Given the description of an element on the screen output the (x, y) to click on. 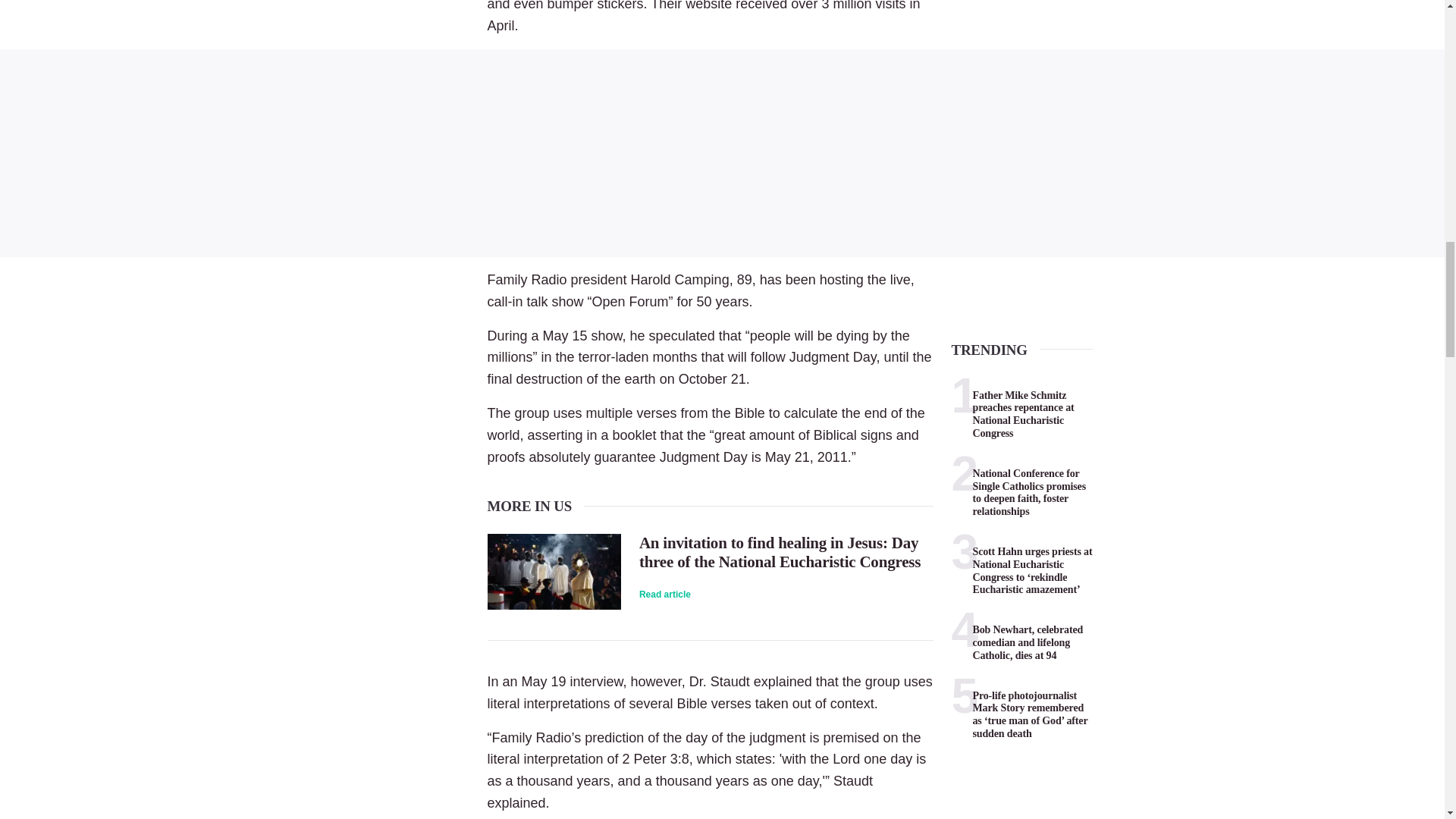
3rd party ad content (721, 153)
